Given the description of an element on the screen output the (x, y) to click on. 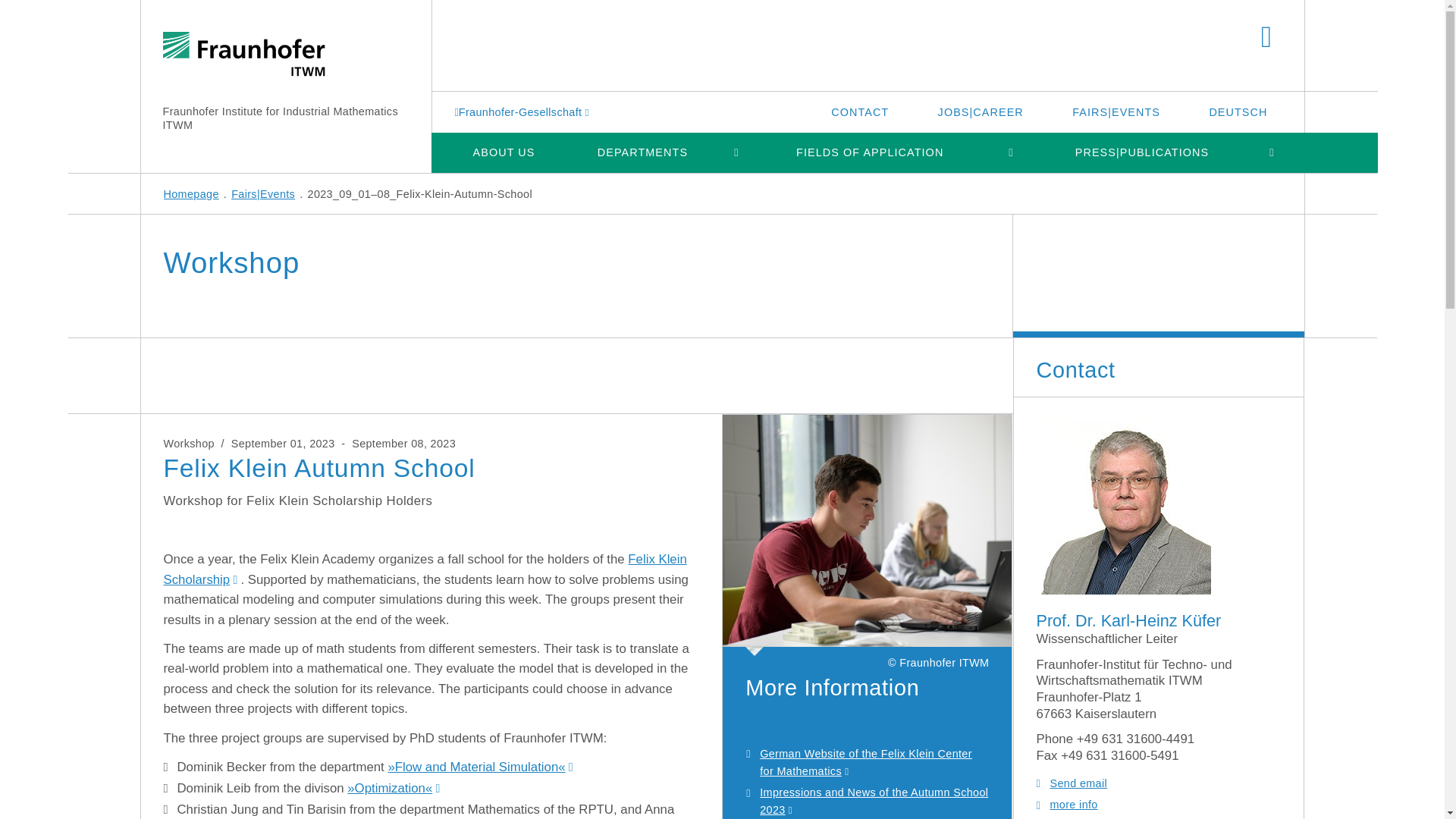
Impressions and News of the Autumn School 2023 (874, 800)
SMS (481, 766)
Fraunhofer Institute for Industrial Mathematics ITWM (279, 118)
DEPARTMENTS (642, 151)
DEUTSCH (1238, 111)
SEARCH (1266, 37)
German Website of the Felix Klein Center for Mathematics (866, 535)
Bereich Optimierung (394, 788)
Fraunhofer-Gesellschaft (523, 111)
German Website of the Felix Klein Center for Mathematics (866, 762)
